Given the description of an element on the screen output the (x, y) to click on. 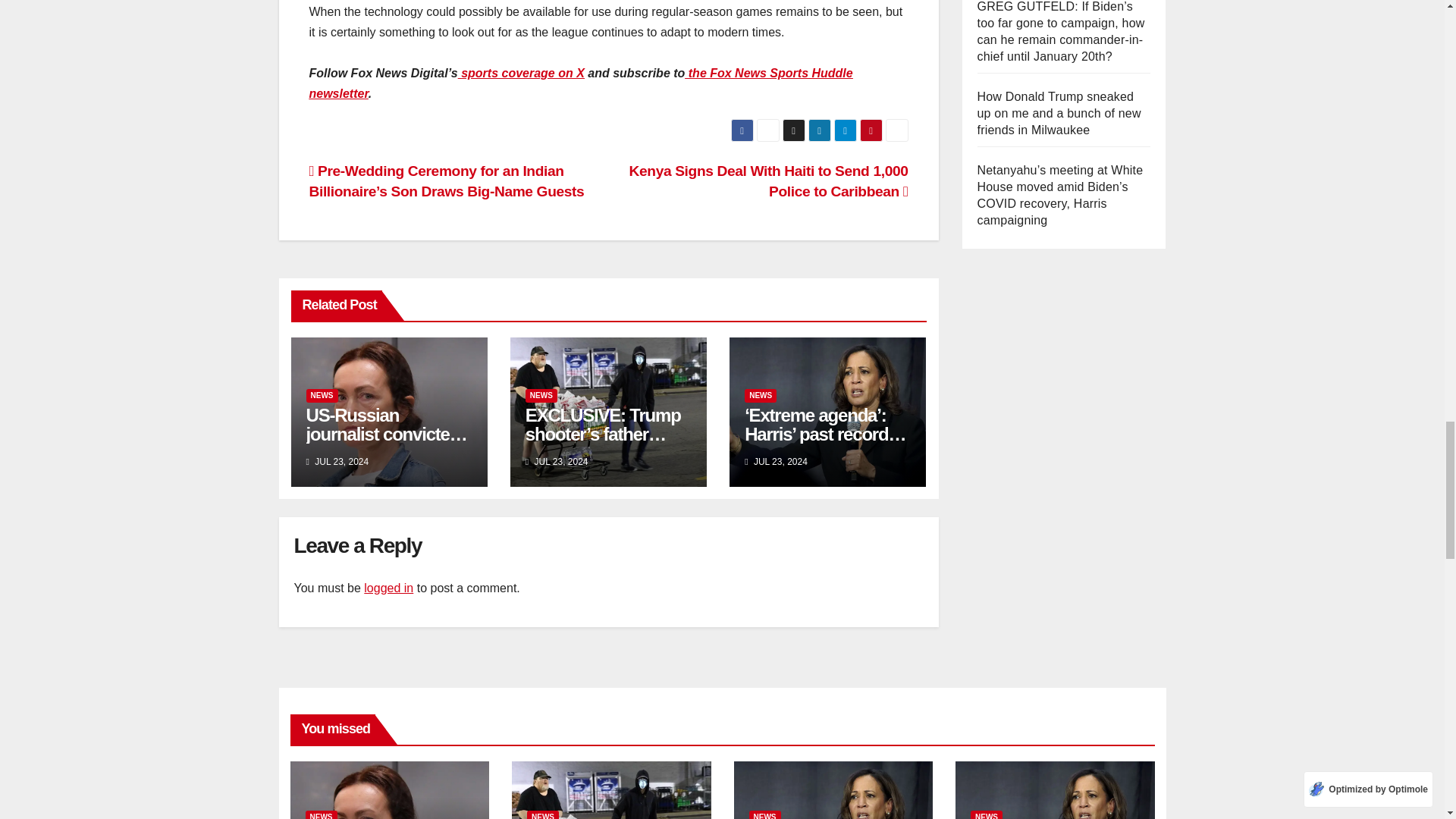
sports coverage on X (521, 72)
the Fox News Sports Huddle newsletter (580, 82)
